Given the description of an element on the screen output the (x, y) to click on. 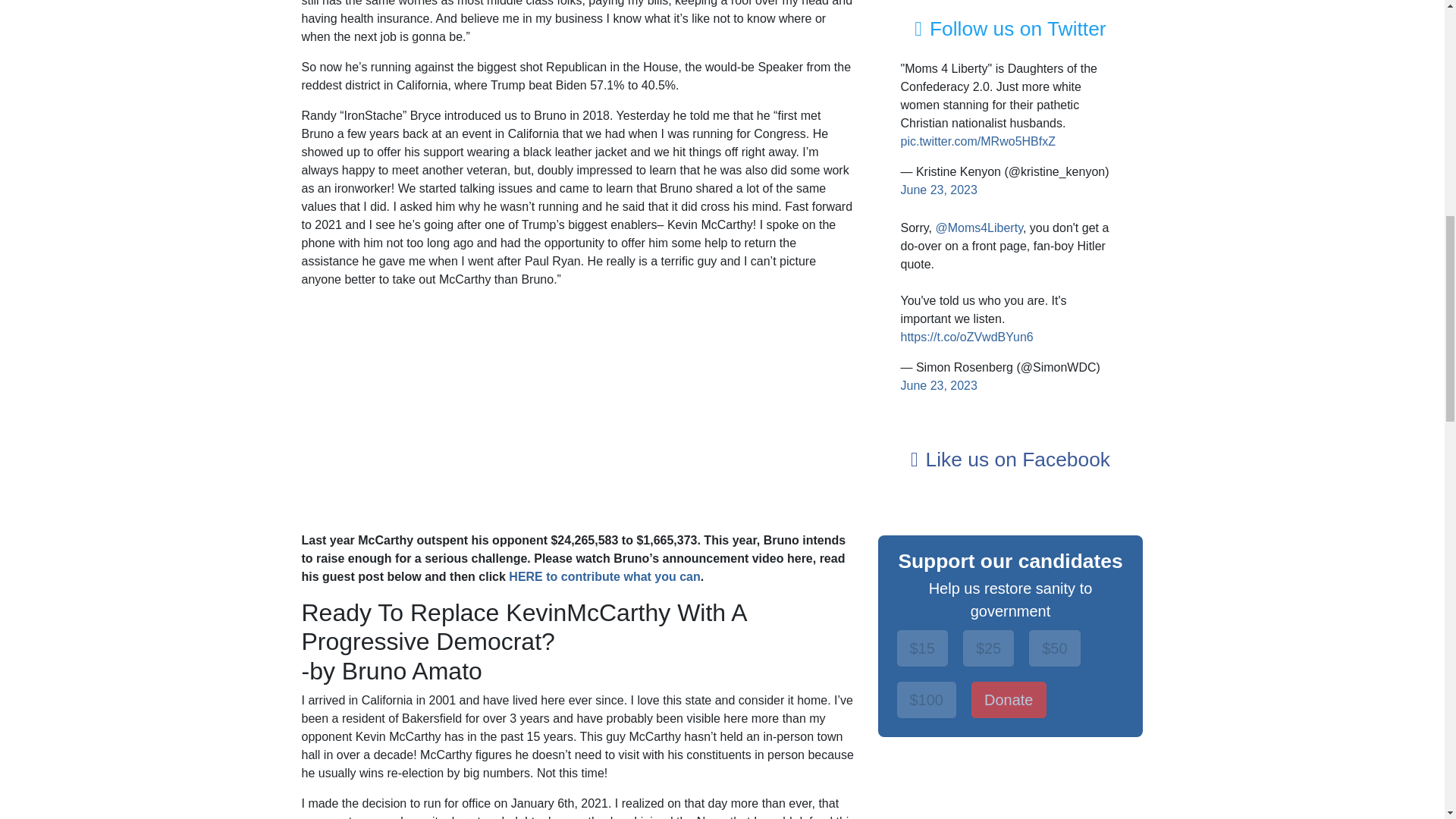
HERE to contribute what you can (604, 576)
Follow us on Twitter (1009, 28)
